Given the description of an element on the screen output the (x, y) to click on. 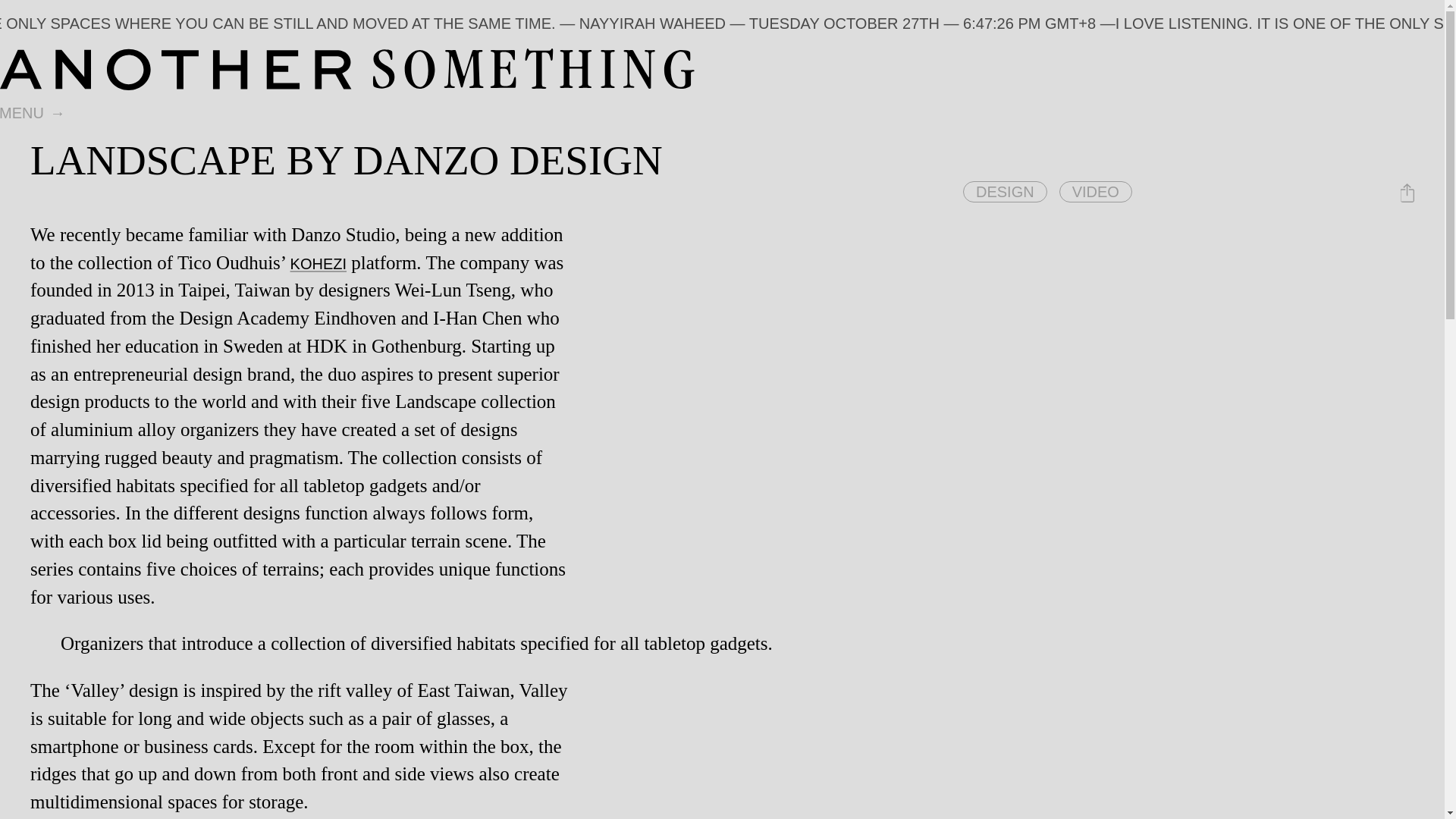
Page 1 (721, 643)
MENU (34, 113)
